Given the description of an element on the screen output the (x, y) to click on. 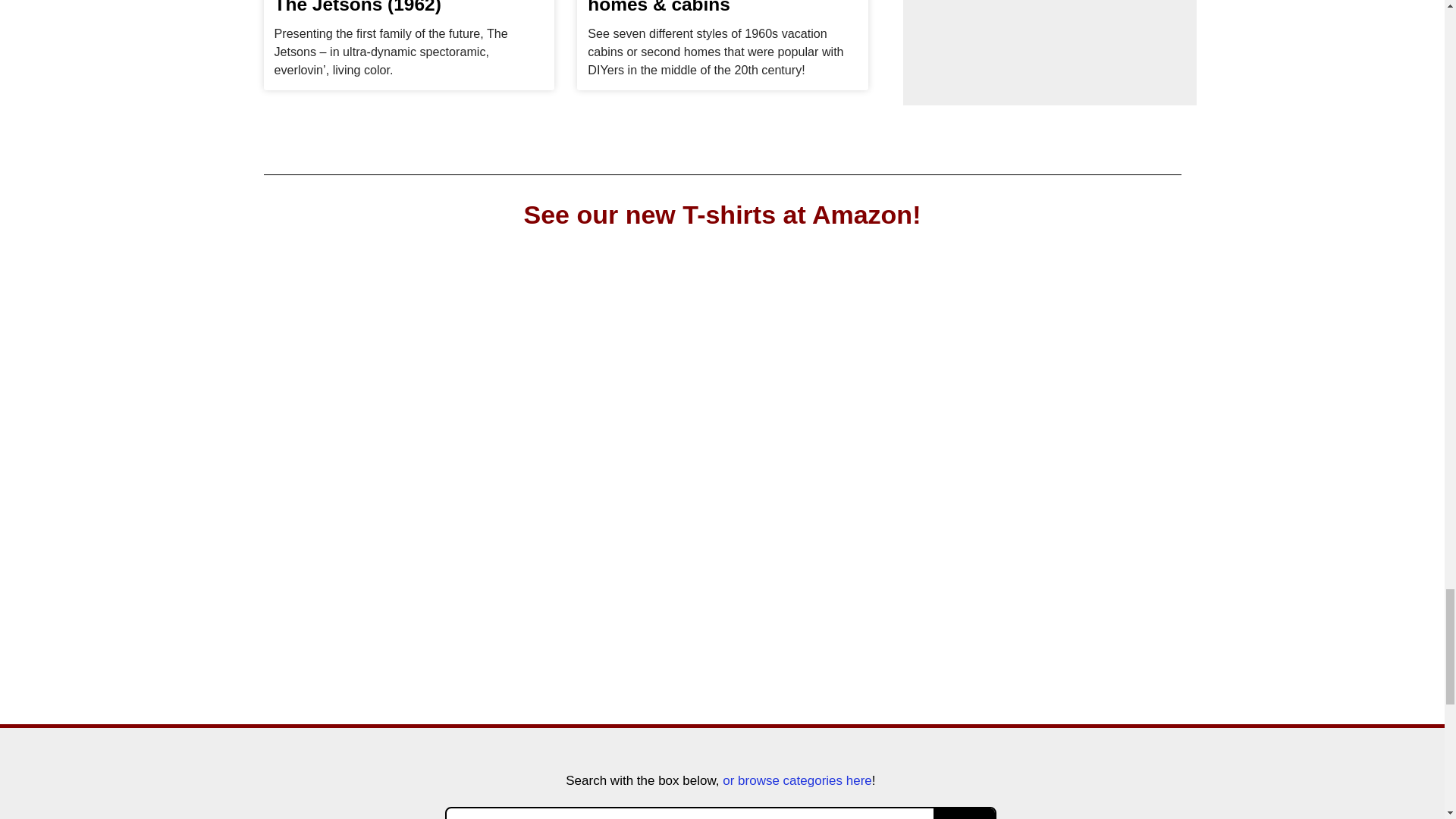
Vintage-look ARIZONA sunset distressed look T-Shirt (1074, 454)
Vintage-look HAWAII sunset distressed look T-Shirt (839, 454)
